Given the description of an element on the screen output the (x, y) to click on. 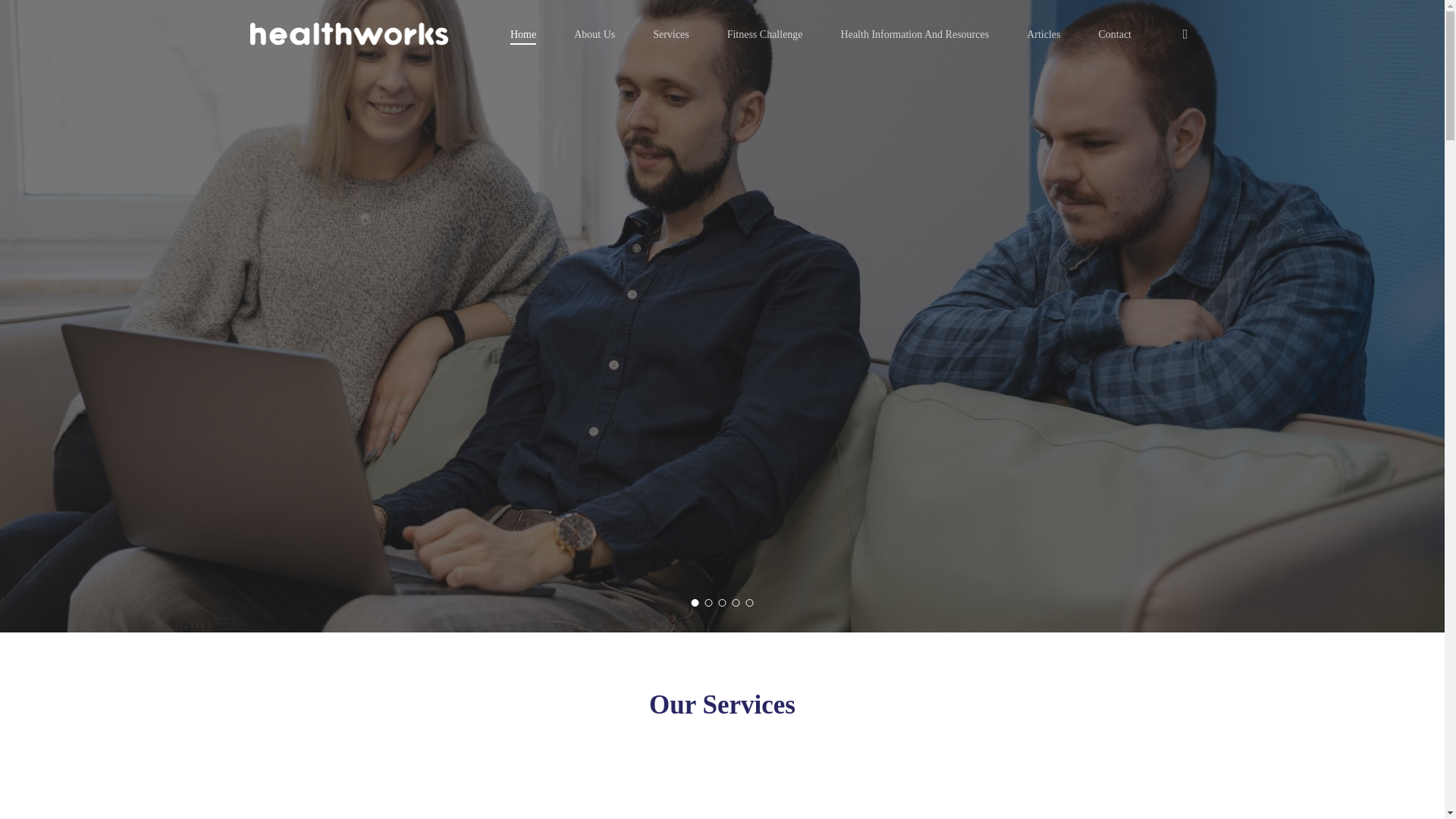
Services (670, 33)
About Us (593, 33)
Home (523, 33)
